Given the description of an element on the screen output the (x, y) to click on. 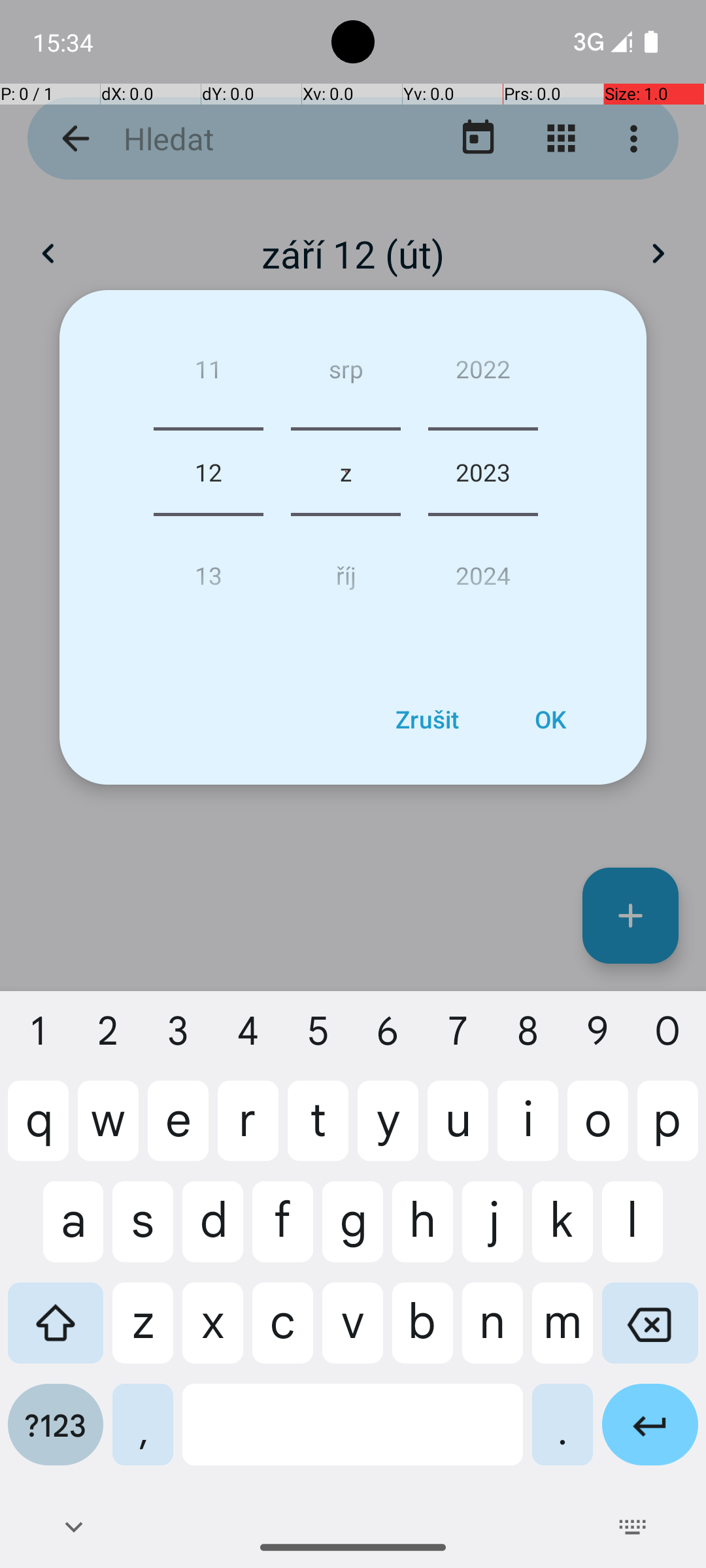
Zrušit Element type: android.widget.Button (426, 719)
srp Element type: android.widget.Button (345, 373)
říj Element type: android.widget.Button (345, 569)
